Given the description of an element on the screen output the (x, y) to click on. 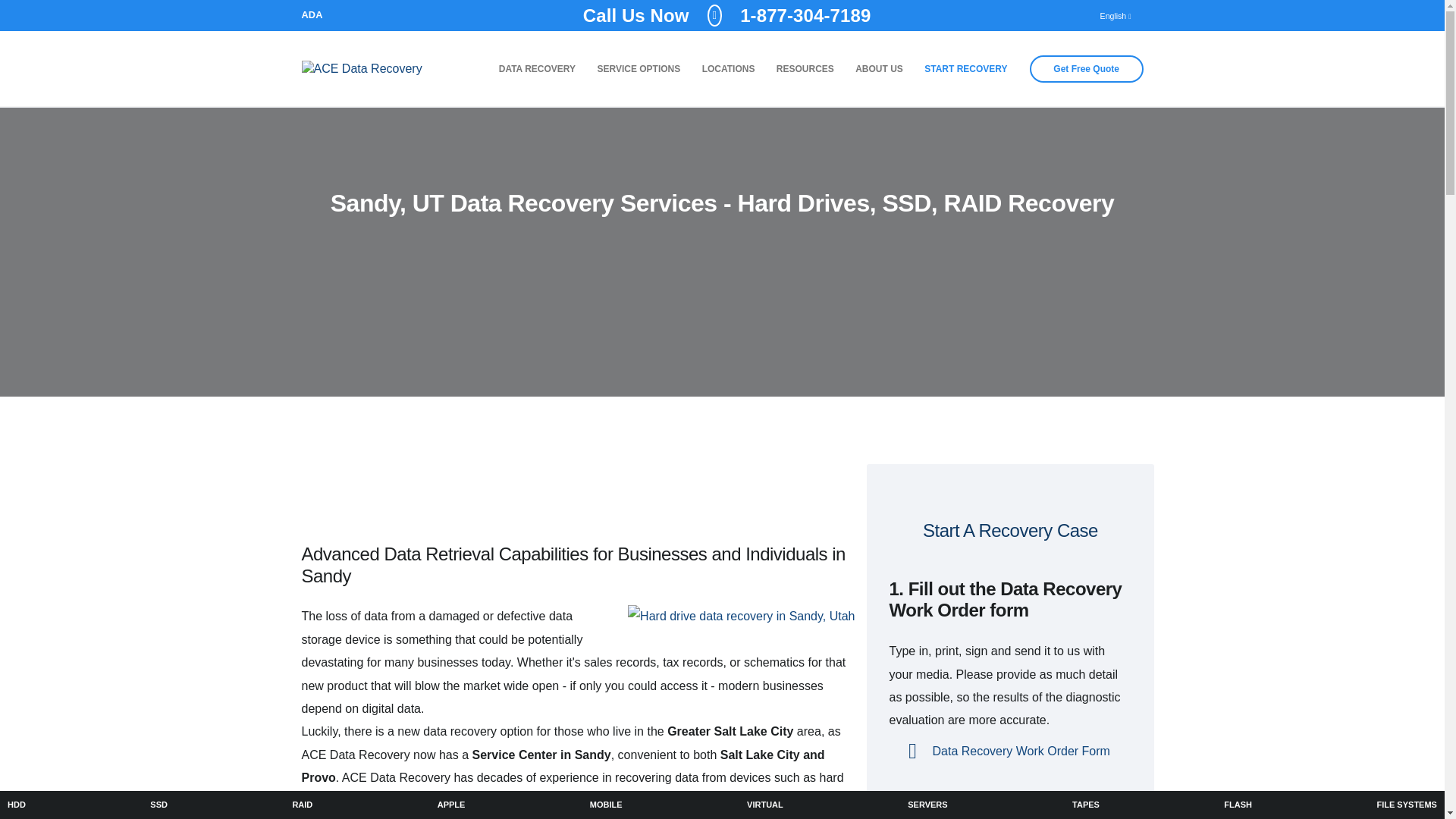
LOCATIONS (727, 69)
Android Data Recovery (606, 805)
Apple Recovery (451, 805)
Hard drive data recovery in Sandy, Utah (740, 616)
ADA (312, 15)
HDD Recovery (16, 805)
SERVICE OPTIONS (638, 69)
DATA RECOVERY (537, 69)
English (1114, 15)
Server Data Recovery (726, 15)
RESOURCES (927, 805)
Flash Memory Data Recovery (805, 69)
RAID Recovery (1237, 805)
Call Us Now (301, 805)
